Given the description of an element on the screen output the (x, y) to click on. 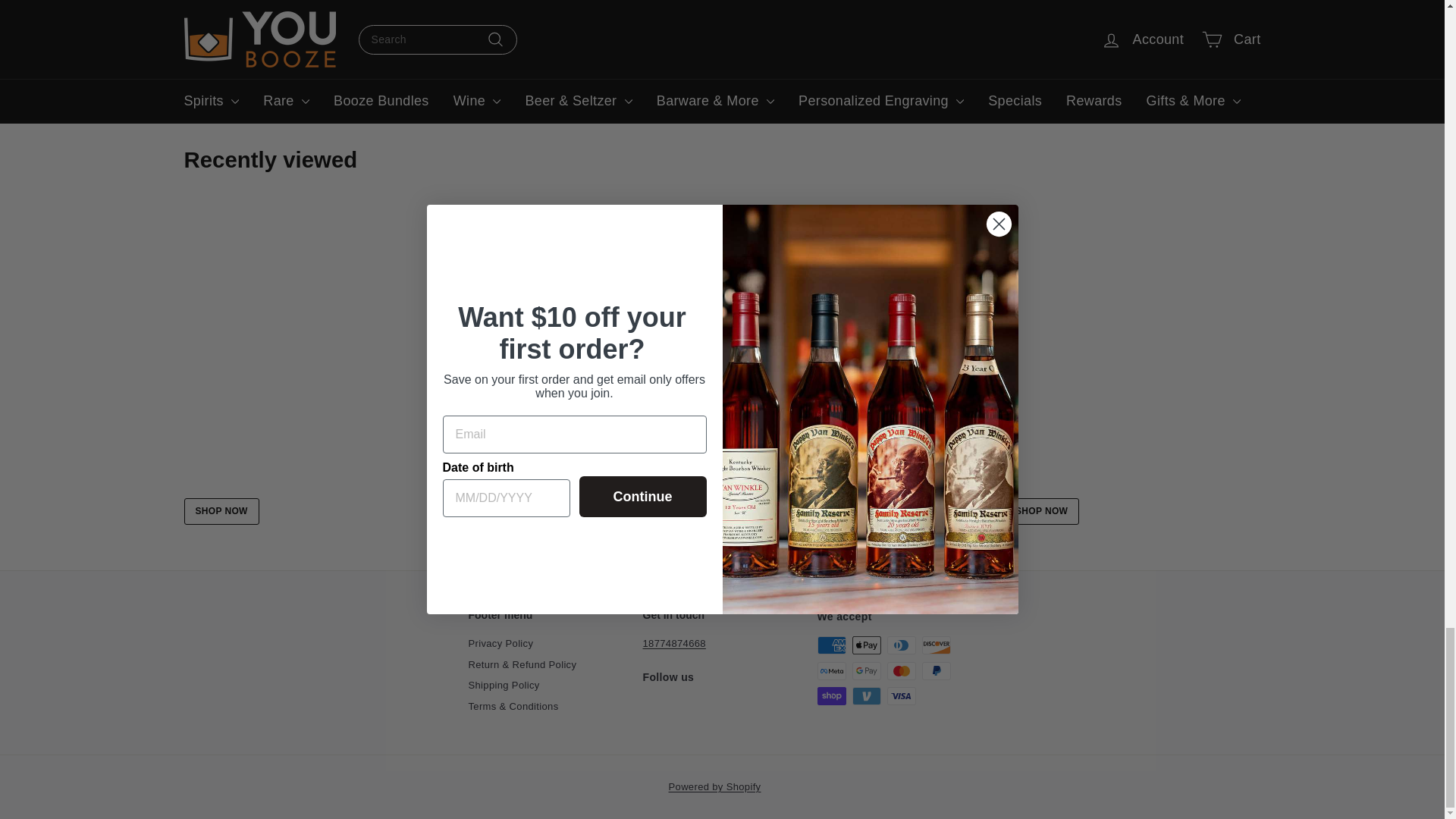
American Express (830, 645)
Apple Pay (865, 645)
Diners Club (900, 645)
